Given the description of an element on the screen output the (x, y) to click on. 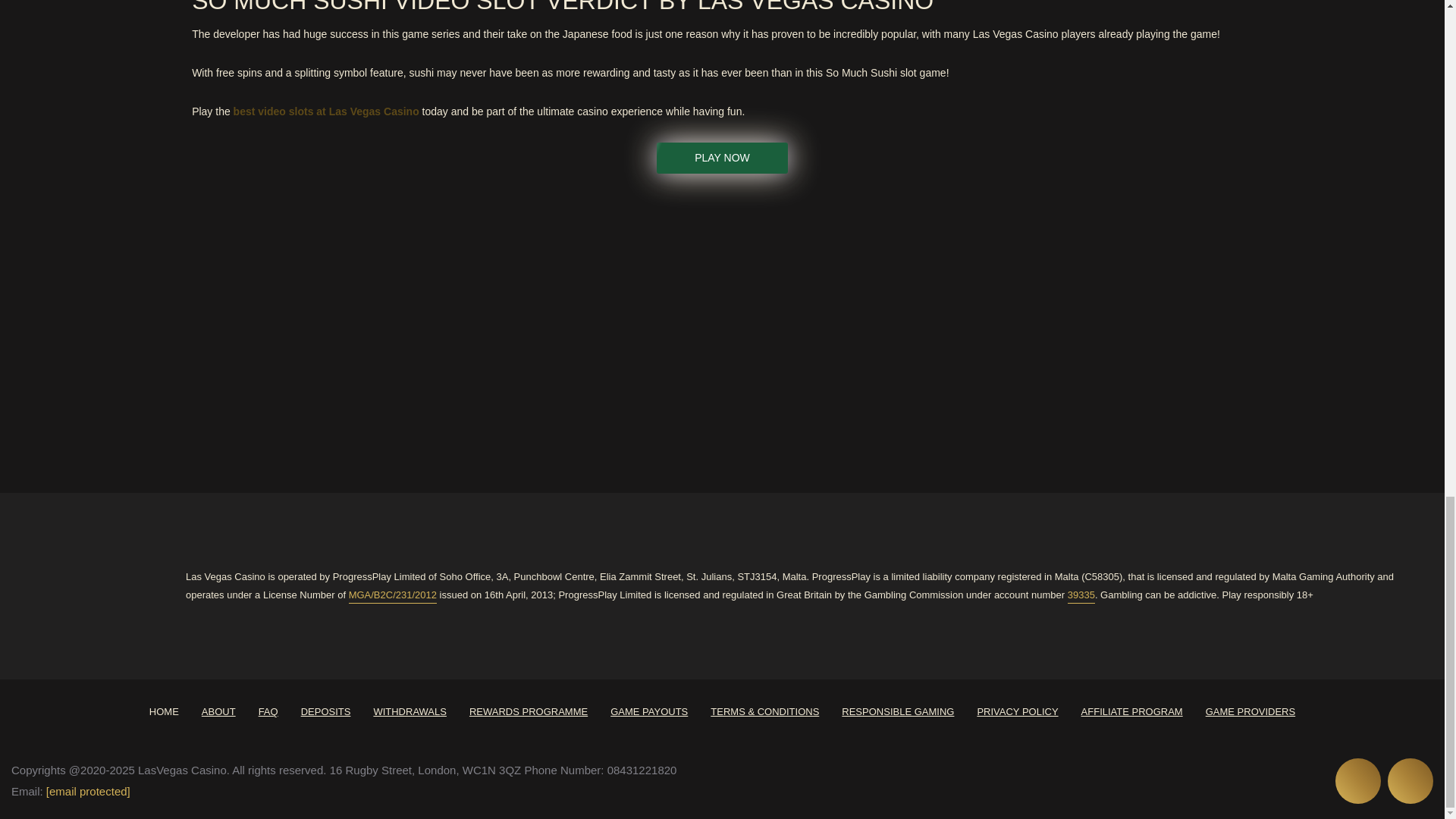
client logos (205, 328)
best video slots at Las Vegas Casino (325, 111)
slots (325, 111)
PLAY NOW (721, 157)
client logos (979, 328)
client logos (850, 327)
39335 (1080, 595)
client logos (721, 328)
client logos (463, 327)
client logos (593, 327)
